Given the description of an element on the screen output the (x, y) to click on. 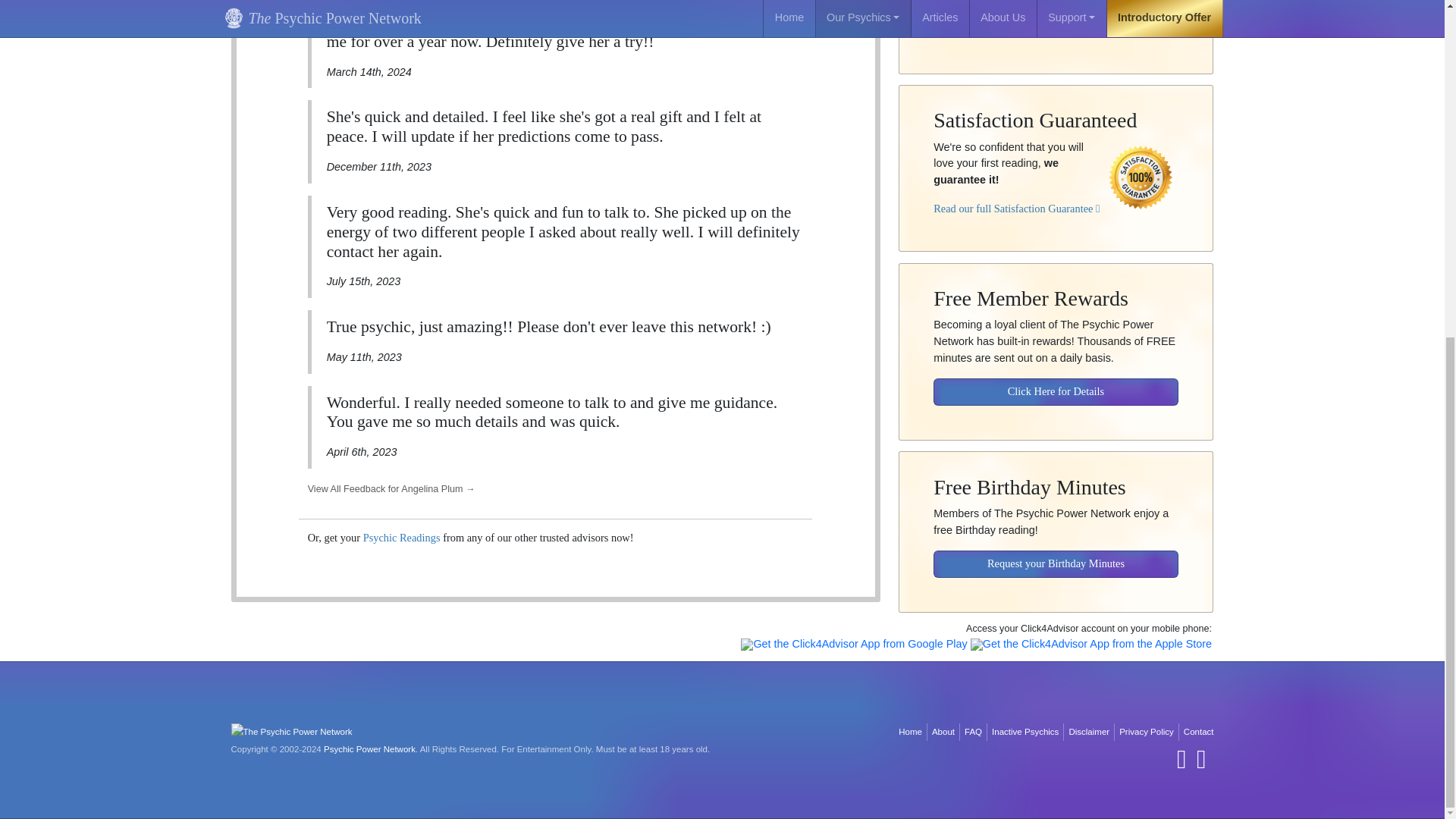
Home (909, 732)
Psychic Readings (401, 537)
